Given the description of an element on the screen output the (x, y) to click on. 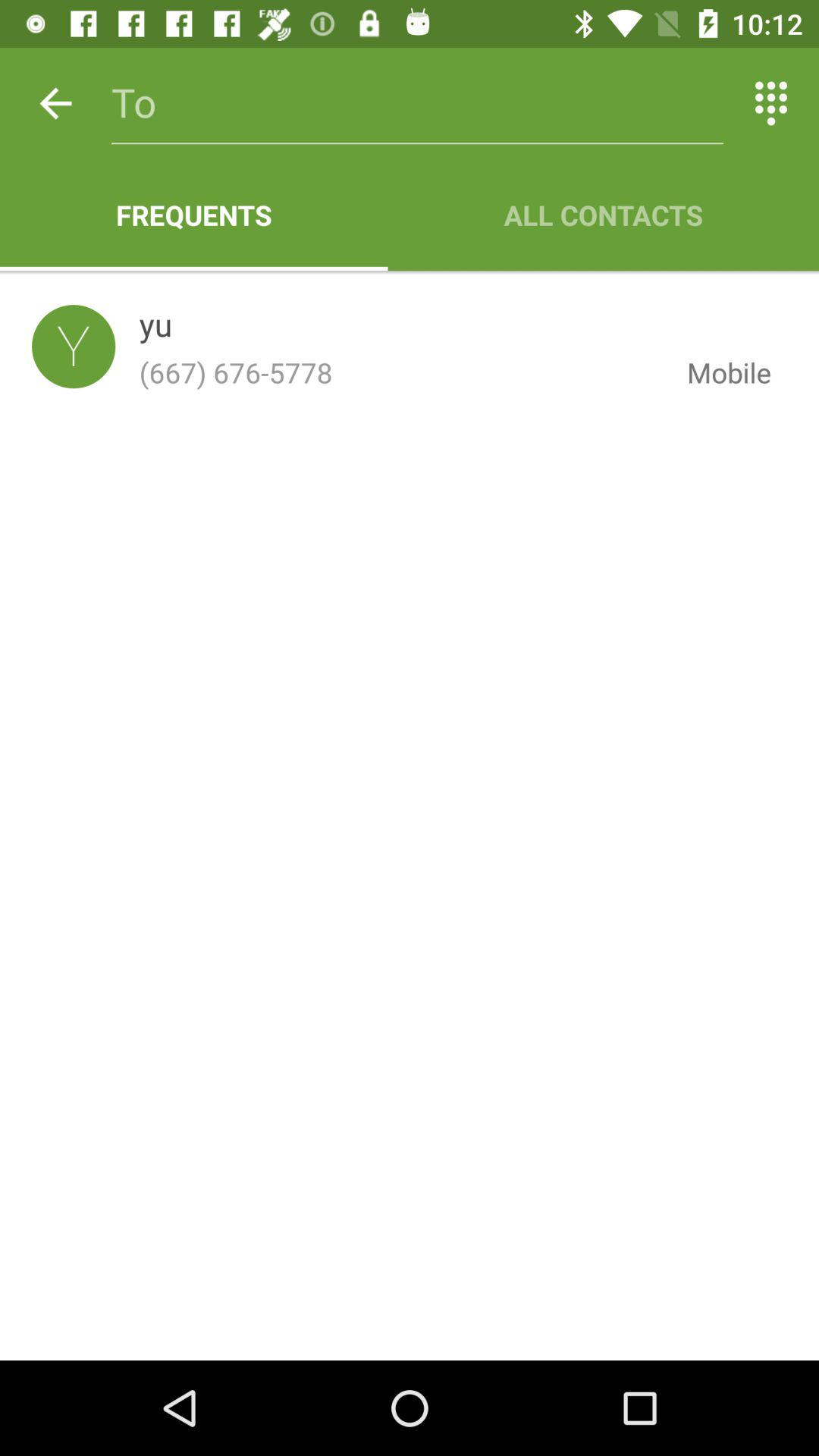
scroll until the (667) 676-5778 icon (401, 372)
